Given the description of an element on the screen output the (x, y) to click on. 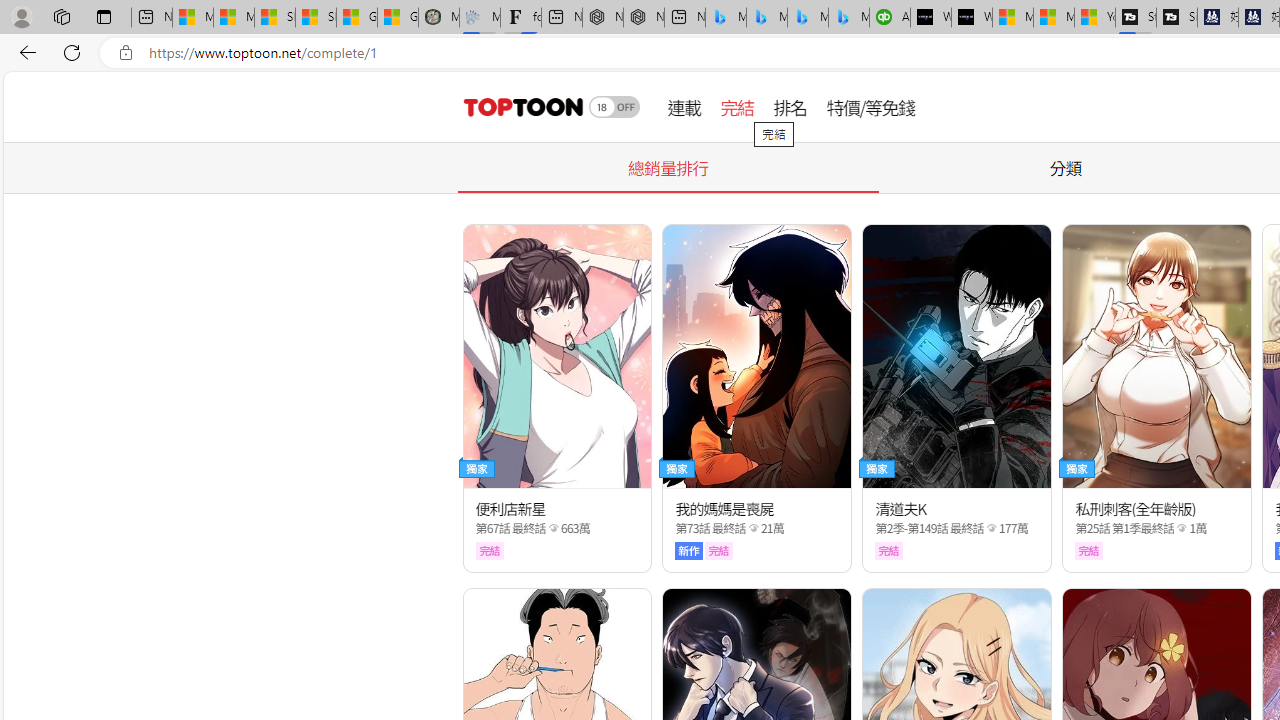
Class:  switch_18mode actionAdultBtn (614, 106)
header (519, 106)
